Given the description of an element on the screen output the (x, y) to click on. 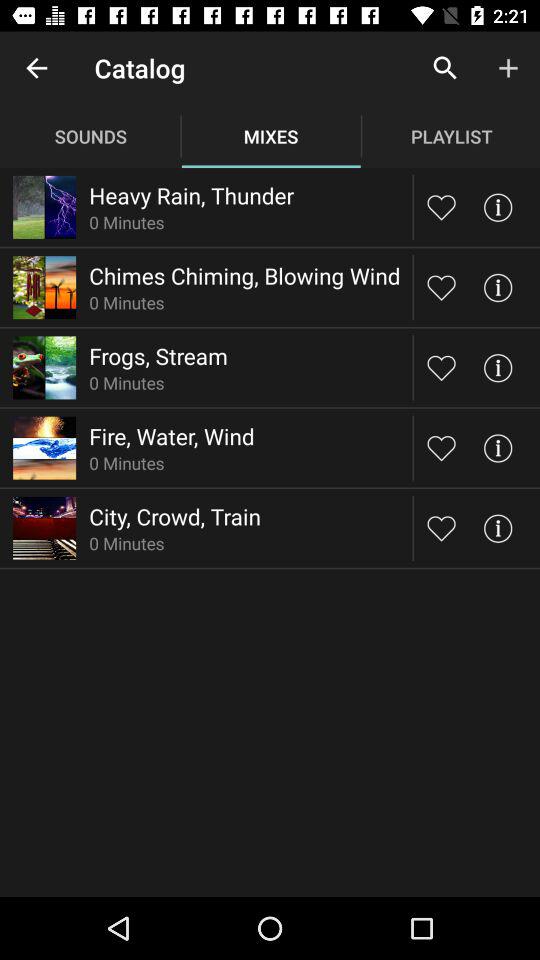
go to playlist option (441, 287)
